Given the description of an element on the screen output the (x, y) to click on. 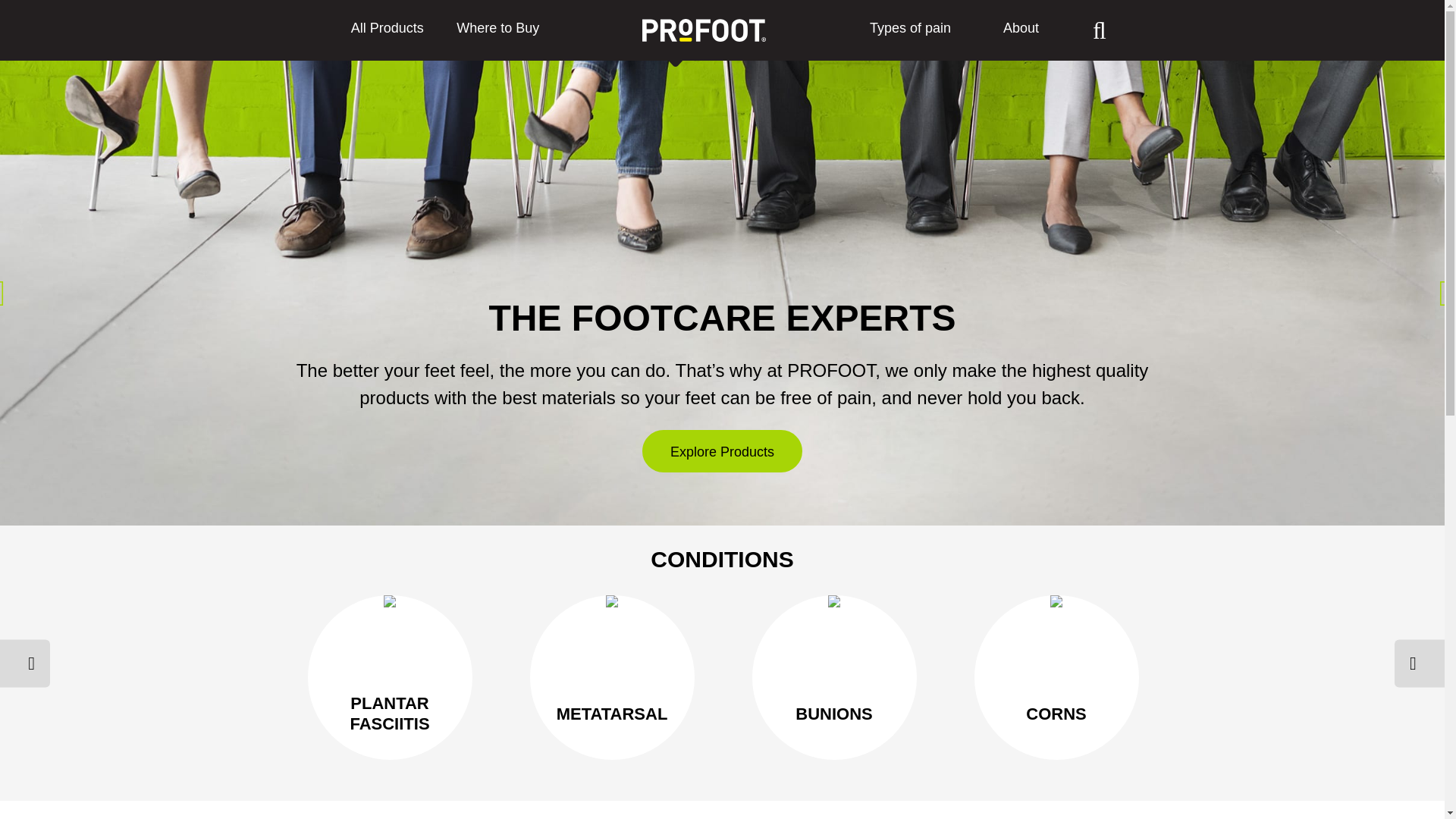
Types of pain (910, 30)
Where to Buy (497, 30)
All Products (387, 30)
